Given the description of an element on the screen output the (x, y) to click on. 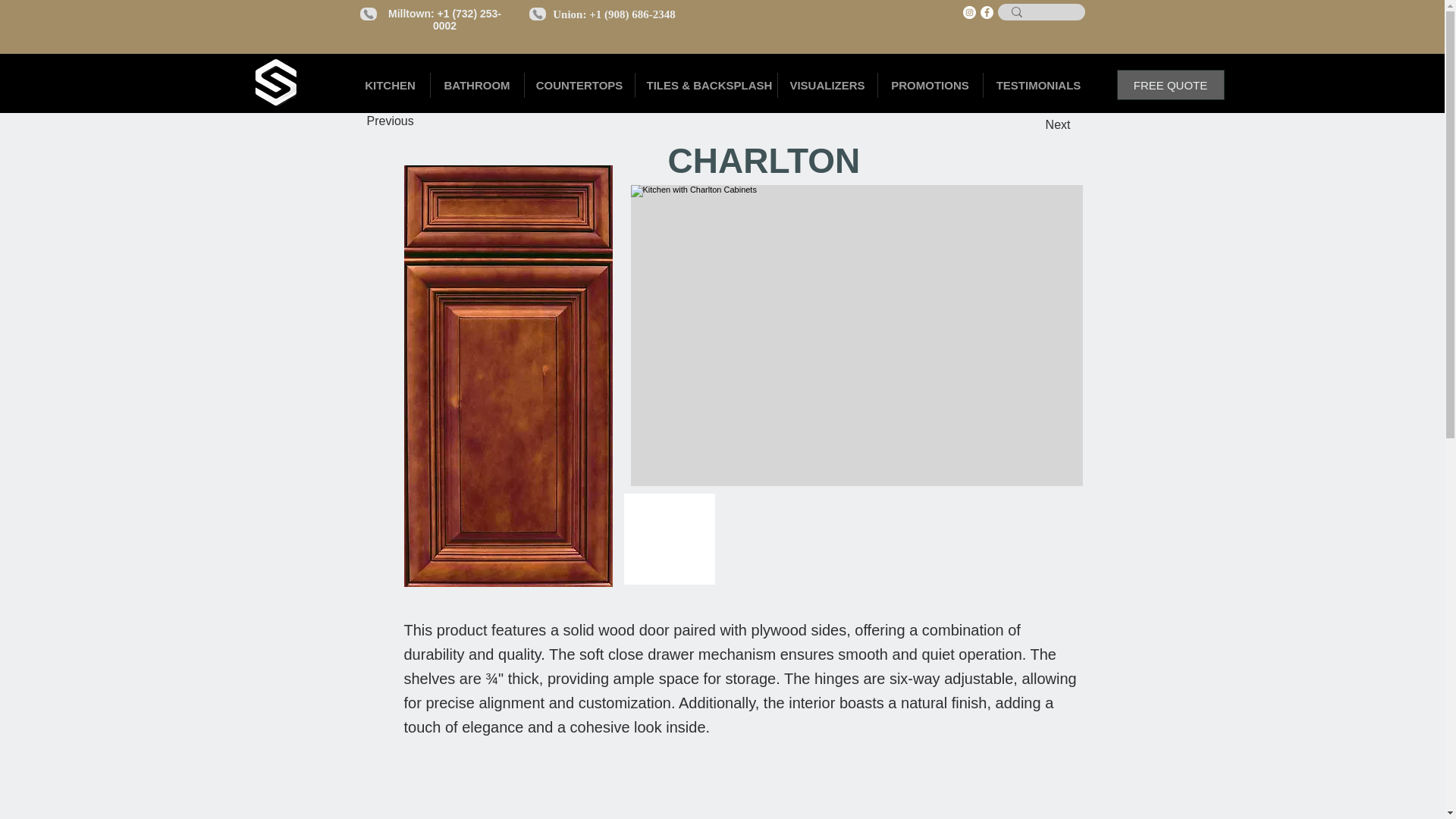
COUNTERTOPS (579, 84)
PROMOTIONS (929, 84)
Previous (416, 121)
VISUALIZERS (827, 84)
Next (1032, 124)
KITCHEN (389, 84)
TESTIMONIALS (1037, 84)
FREE QUOTE (1170, 84)
